Given the description of an element on the screen output the (x, y) to click on. 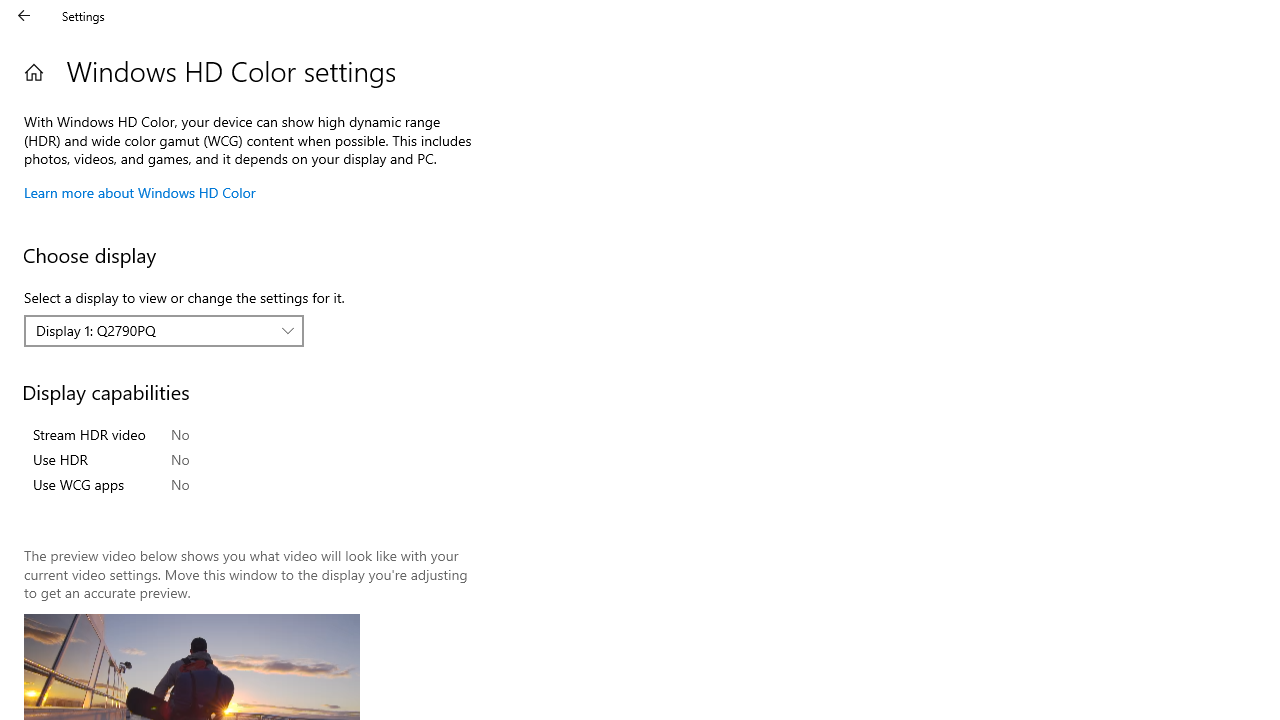
Learn more about Windows HD Color (140, 192)
Home (33, 71)
Select a display to view or change the settings for it. (164, 331)
Display 1: Q2790PQ (153, 330)
Back (24, 15)
